Given the description of an element on the screen output the (x, y) to click on. 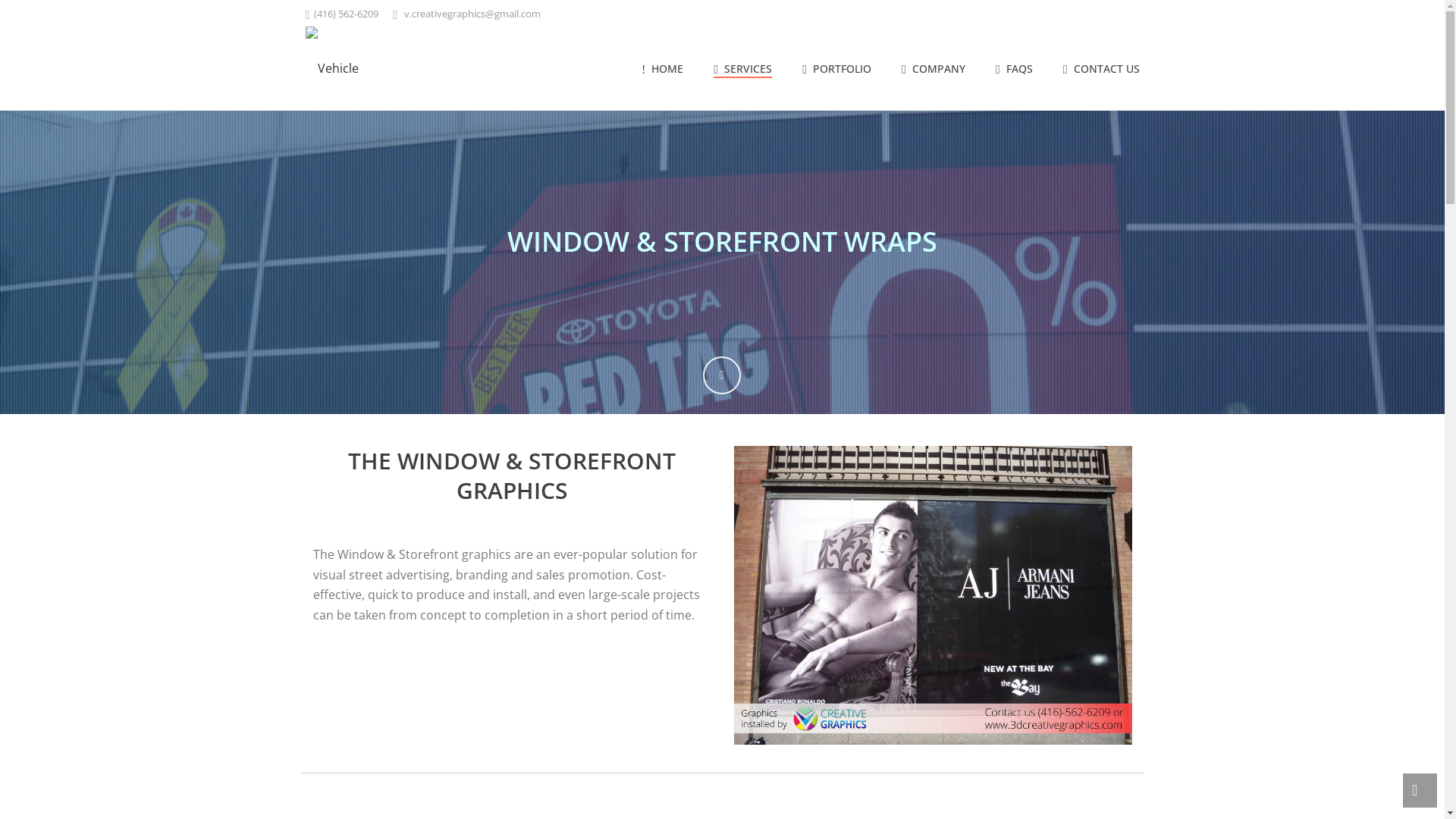
SERVICES Element type: text (742, 69)
(416) 562-6209 Element type: text (345, 13)
HOME Element type: text (662, 69)
v.creativegraphics@gmail.com Element type: text (472, 13)
COMPANY Element type: text (933, 69)
CONTACT US Element type: text (1101, 69)
FAQS Element type: text (1014, 69)
PORTFOLIO Element type: text (836, 69)
Vehicle Wrap Installations in Greater Toronto Area Element type: hover (339, 67)
